Given the description of an element on the screen output the (x, y) to click on. 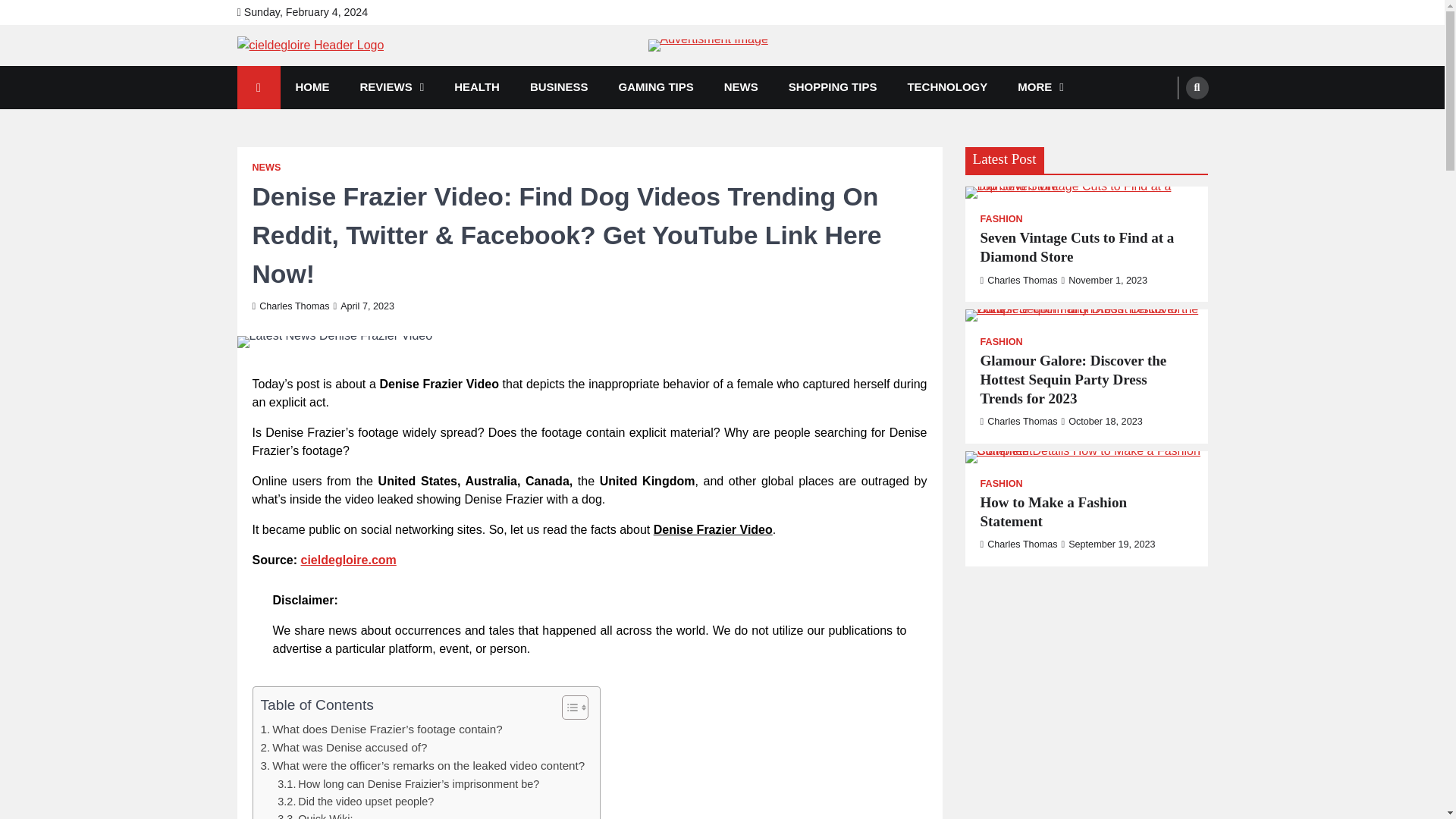
HEALTH (477, 87)
NEWS (266, 167)
GAMING TIPS (656, 87)
MORE (1040, 87)
NEWS (741, 87)
What was Denise accused of? (344, 747)
Charles Thomas (290, 306)
Search (1168, 123)
Did the video upset people? (355, 801)
What was Denise accused of? (344, 747)
TECHNOLOGY (947, 87)
REVIEWS (391, 87)
HOME (313, 87)
SHOPPING TIPS (832, 87)
BUSINESS (559, 87)
